Given the description of an element on the screen output the (x, y) to click on. 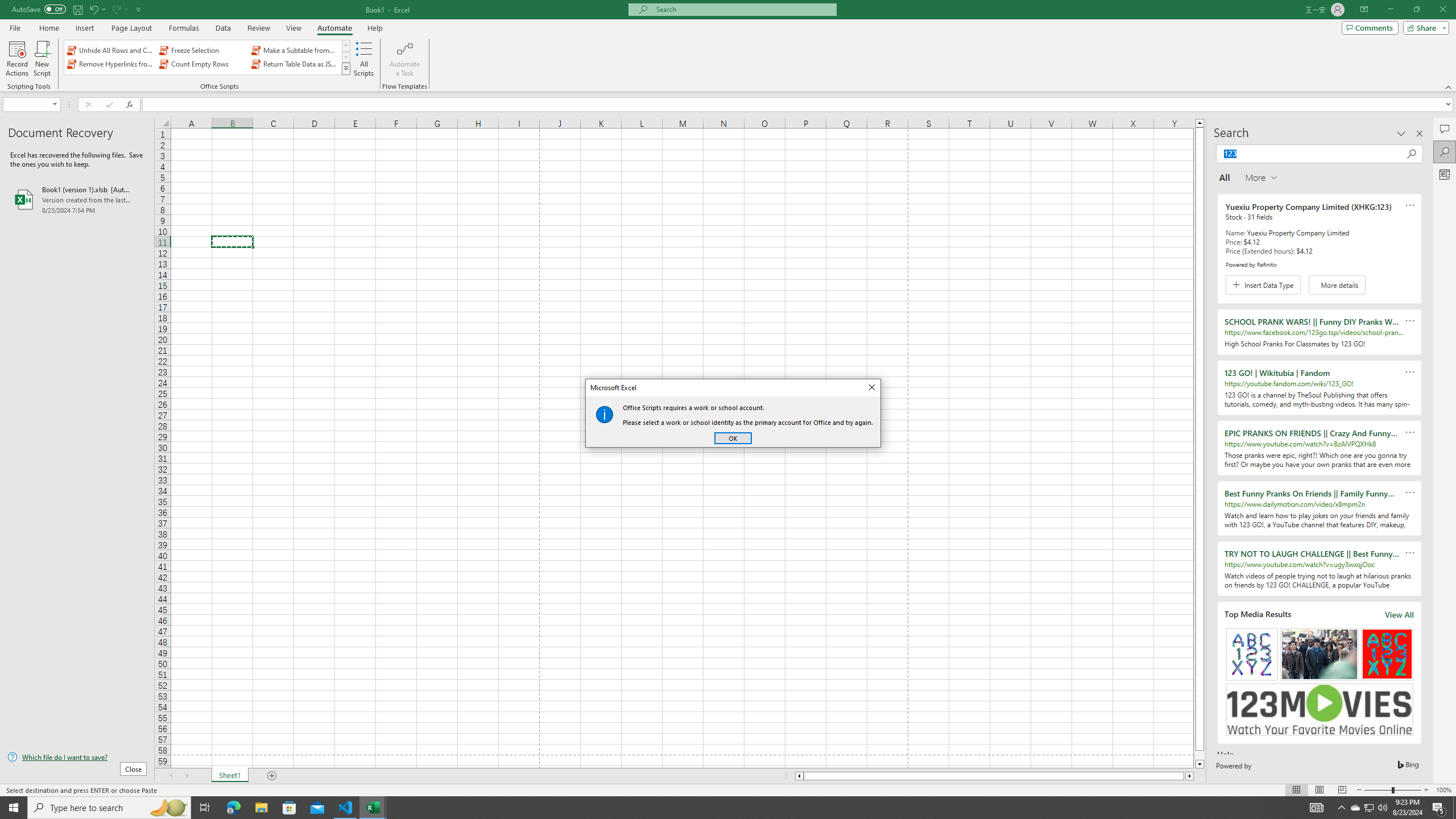
Open (54, 104)
Scroll Left (171, 775)
Microsoft Store (289, 807)
Comments (1444, 128)
Column right (1190, 775)
Close pane (1419, 133)
New Script (41, 58)
Task View (204, 807)
Sheet1 (229, 775)
Class: NetUIScrollBar (994, 775)
Zoom In (1426, 790)
Zoom (1392, 790)
Start (13, 807)
Column left (798, 775)
